Given the description of an element on the screen output the (x, y) to click on. 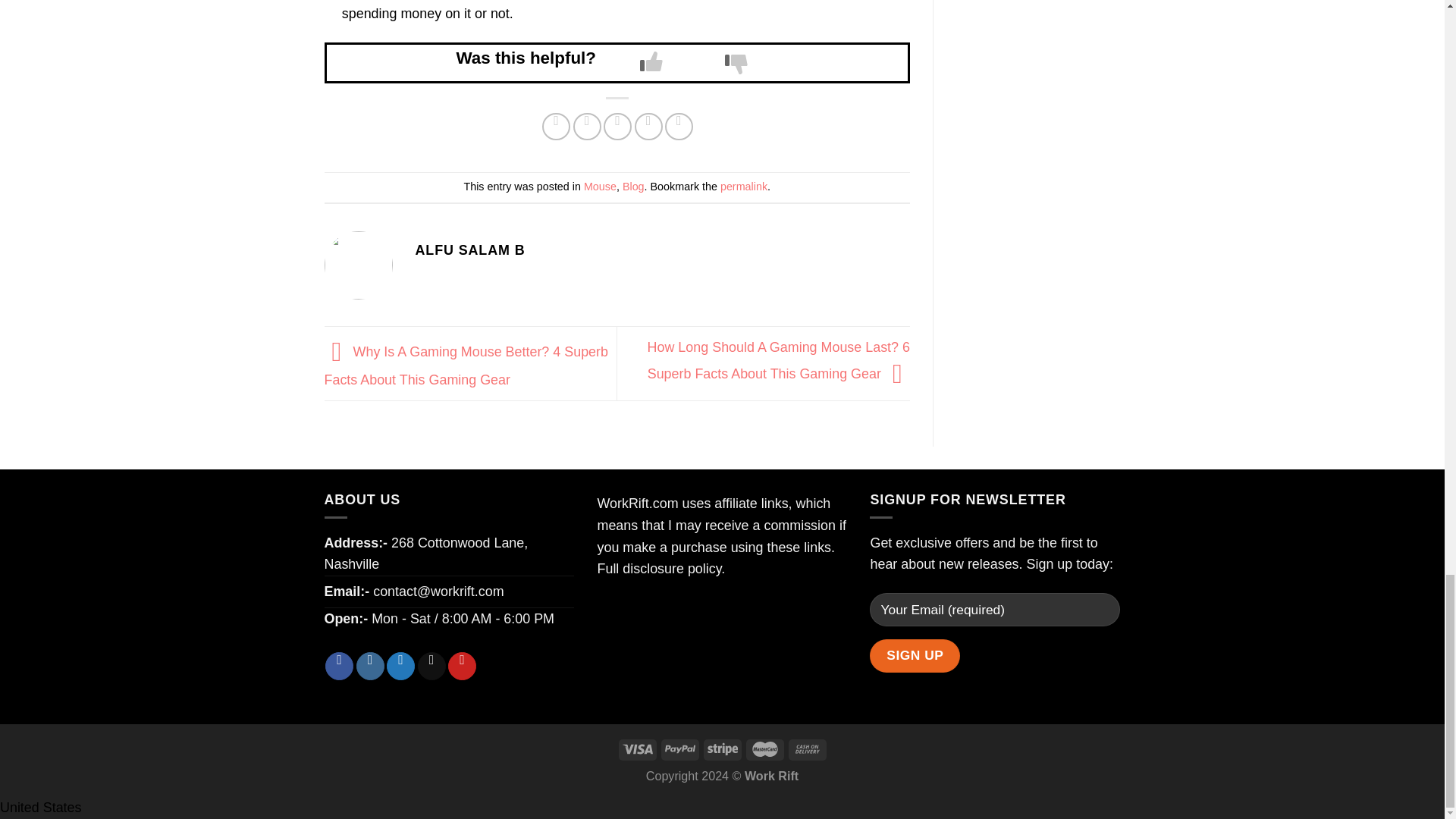
Follow on Twitter (400, 665)
Share on Twitter (587, 126)
Email to a Friend (617, 126)
Sign Up (914, 655)
Share on LinkedIn (679, 126)
Share on Facebook (555, 126)
Follow on Instagram (370, 665)
Follow on Facebook (338, 665)
Follow on Pinterest (462, 665)
